Given the description of an element on the screen output the (x, y) to click on. 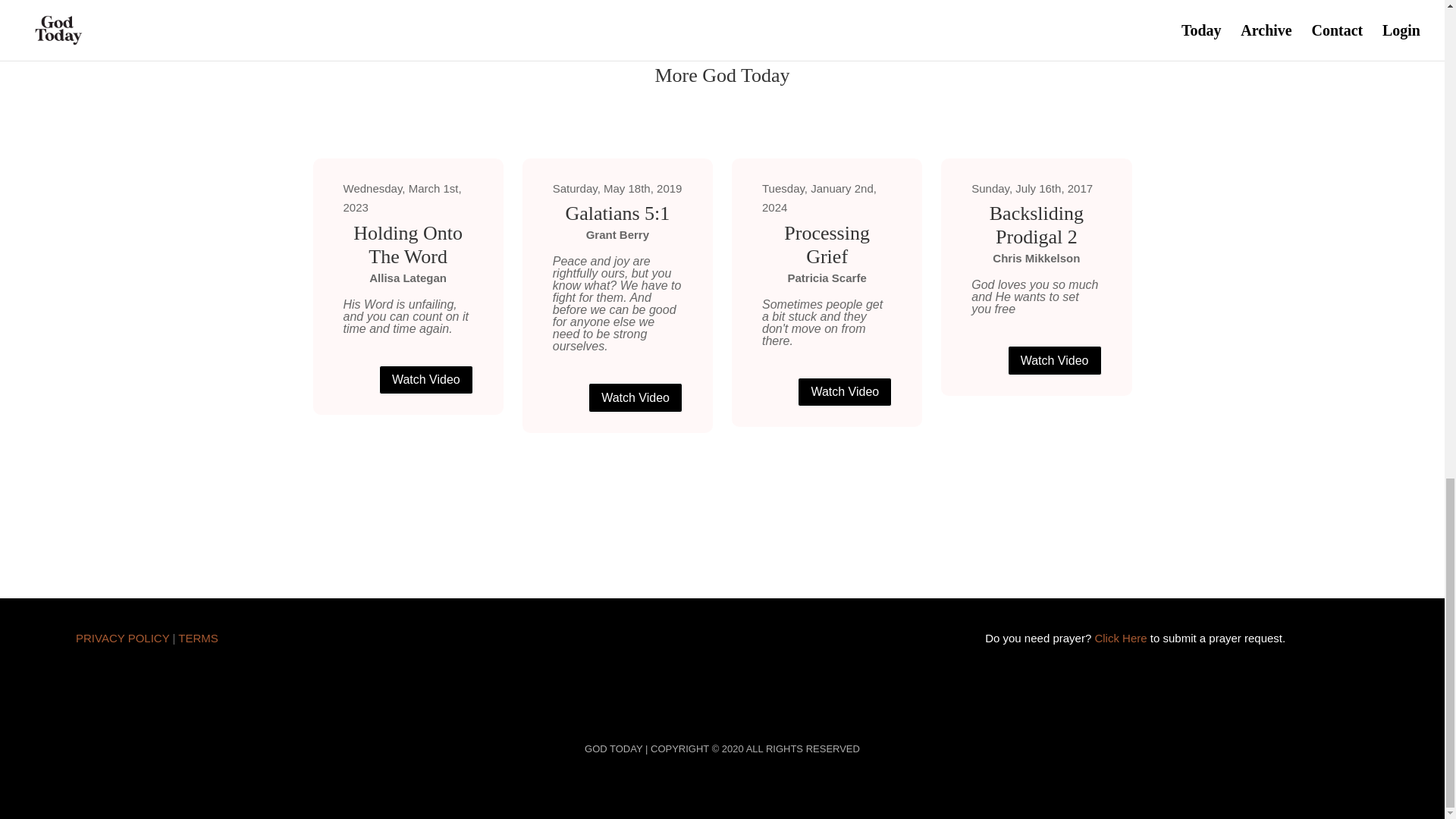
Watch Video (844, 392)
Holding Onto The Word (406, 244)
Galatians 5:1 (617, 213)
Processing Grief (826, 244)
Watch Video (1054, 360)
PRIVACY POLICY (121, 637)
Backsliding Prodigal 2 (1035, 224)
Click Here (1120, 637)
Watch Video (635, 397)
Watch Video (425, 379)
TERMS (197, 637)
